Given the description of an element on the screen output the (x, y) to click on. 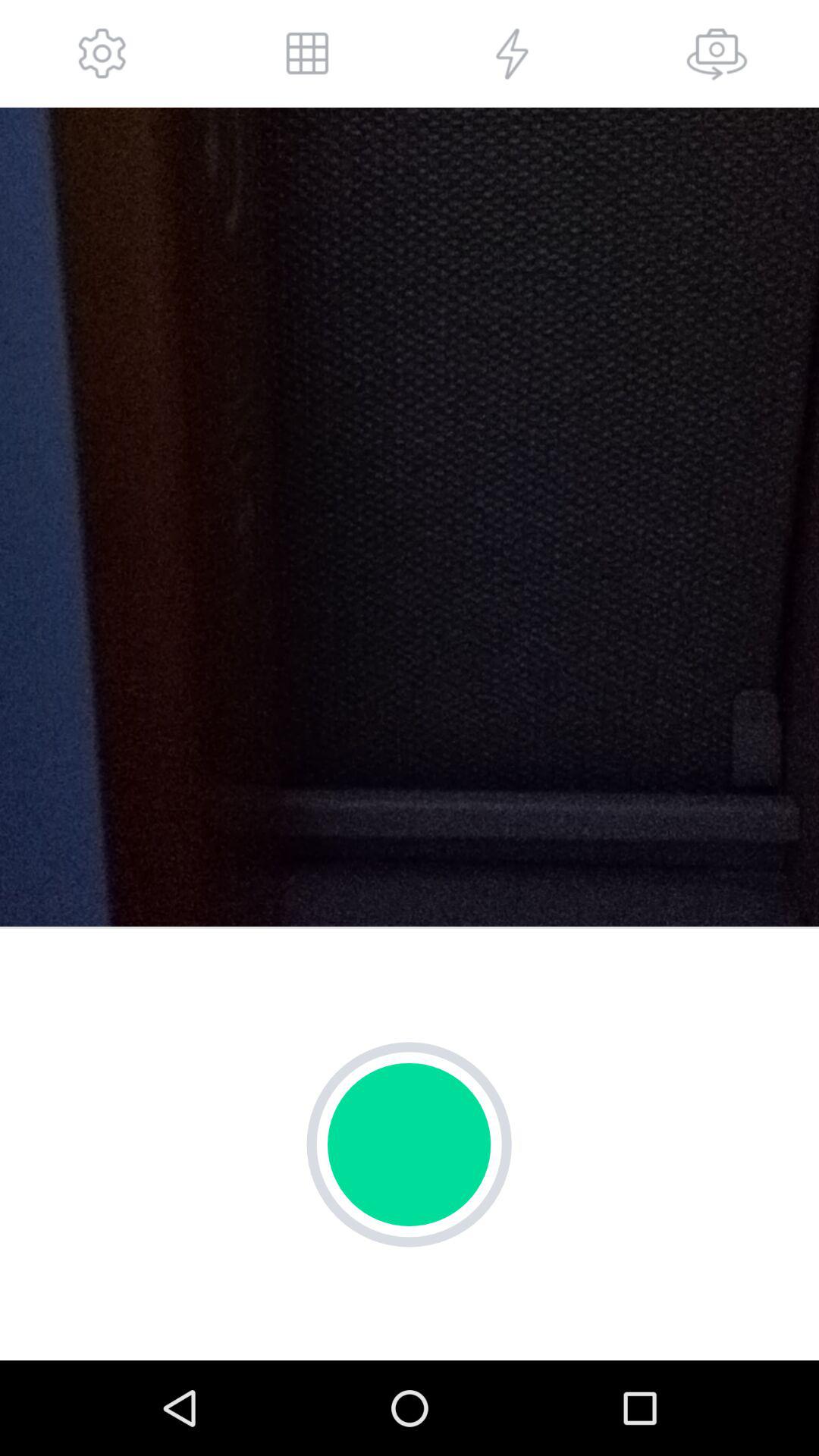
go to settings (102, 53)
